Given the description of an element on the screen output the (x, y) to click on. 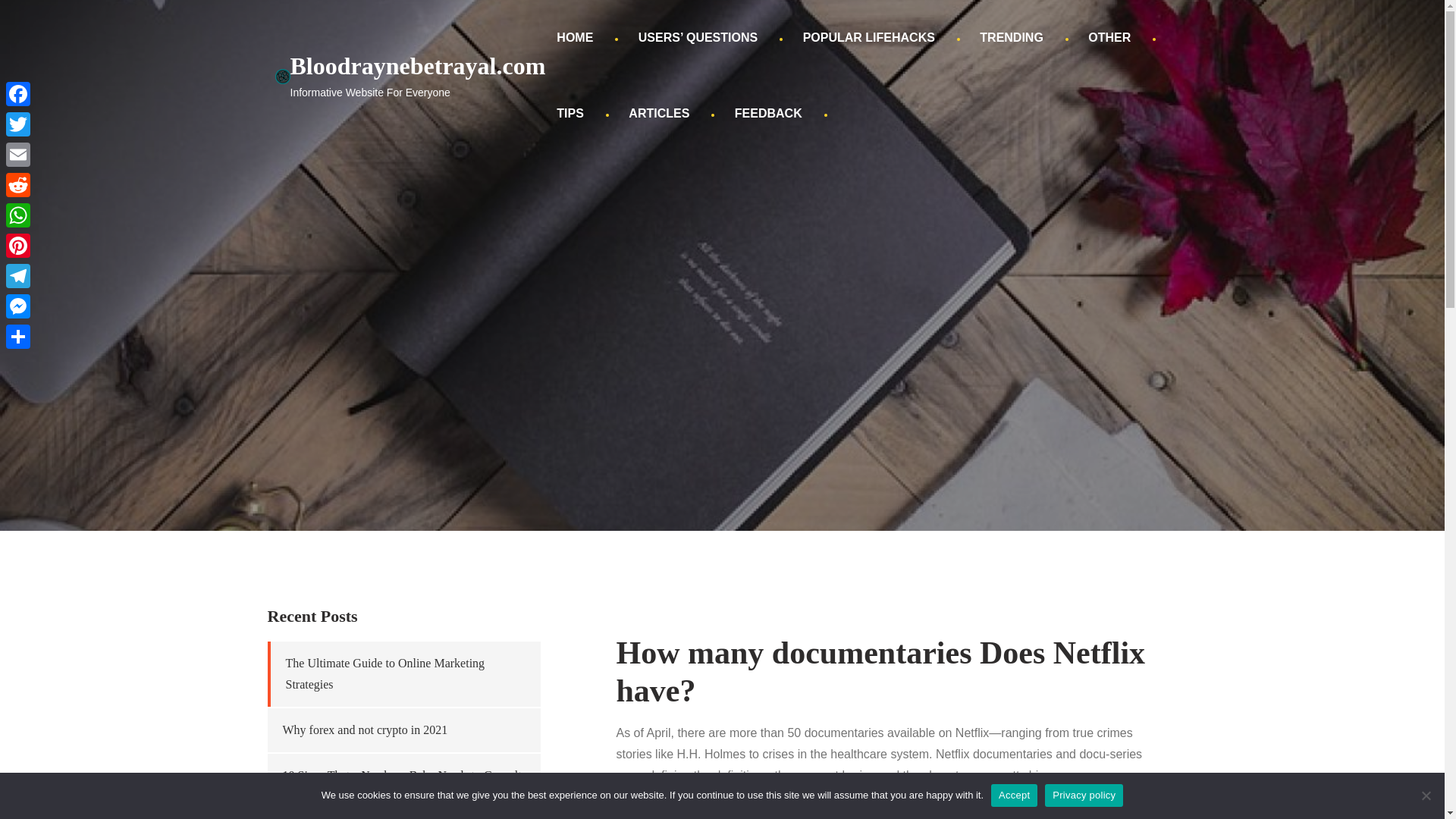
FEEDBACK (768, 113)
Pinterest (17, 245)
Why forex and not crypto in 2021 (364, 729)
10 Signs That a Newborn Baby Needs to Consult a Doctor (401, 786)
Bloodraynebetrayal.com (416, 65)
ARTICLES (658, 113)
Messenger (17, 306)
Telegram (17, 276)
Reddit (17, 184)
Facebook (17, 93)
WhatsApp (17, 214)
Twitter (17, 123)
The Ultimate Guide to Online Marketing Strategies (384, 673)
Email (17, 154)
TRENDING (1011, 38)
